Given the description of an element on the screen output the (x, y) to click on. 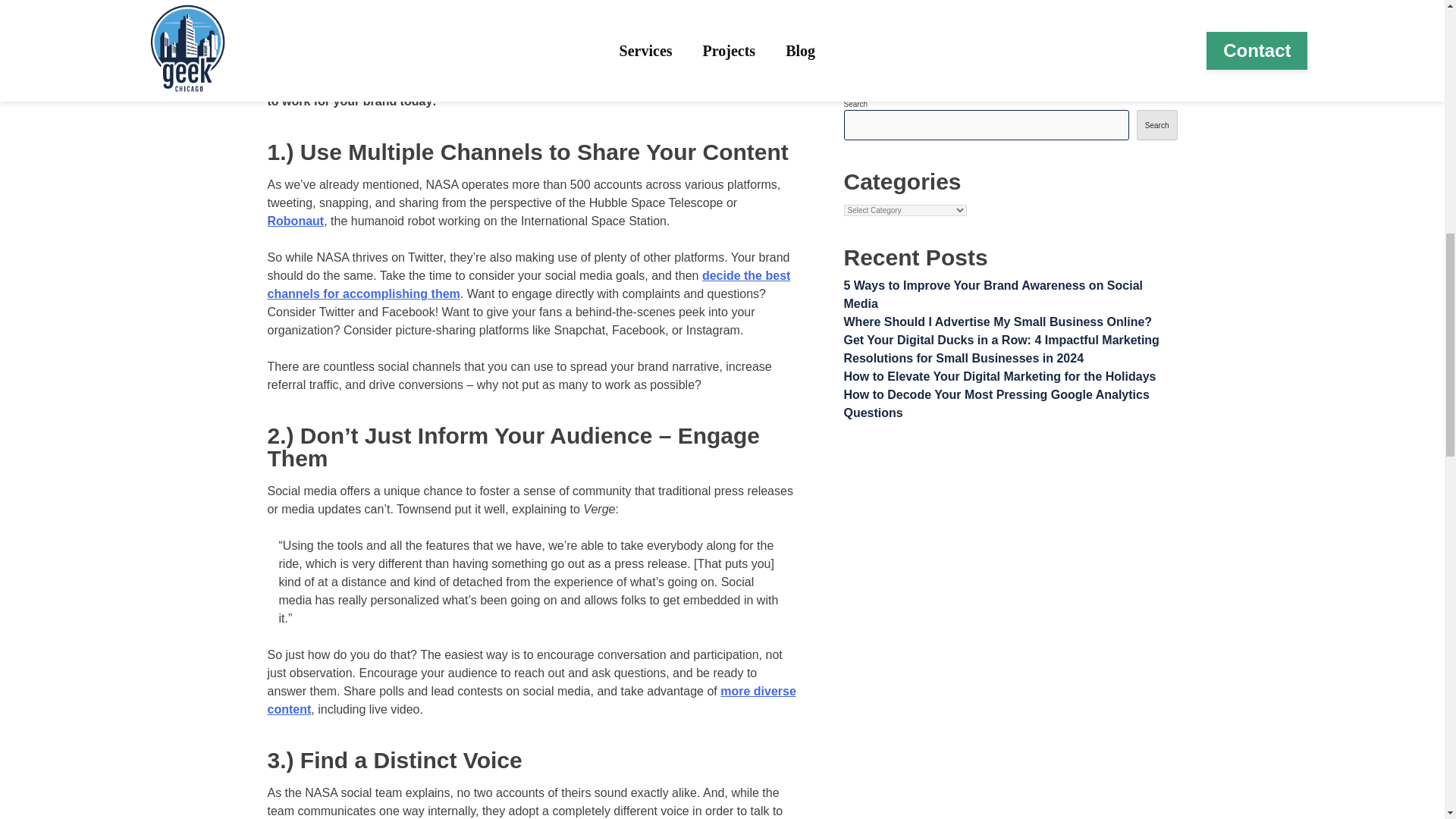
Robonaut (294, 220)
decide the best channels for accomplishing them (528, 284)
more diverse content (530, 699)
